Given the description of an element on the screen output the (x, y) to click on. 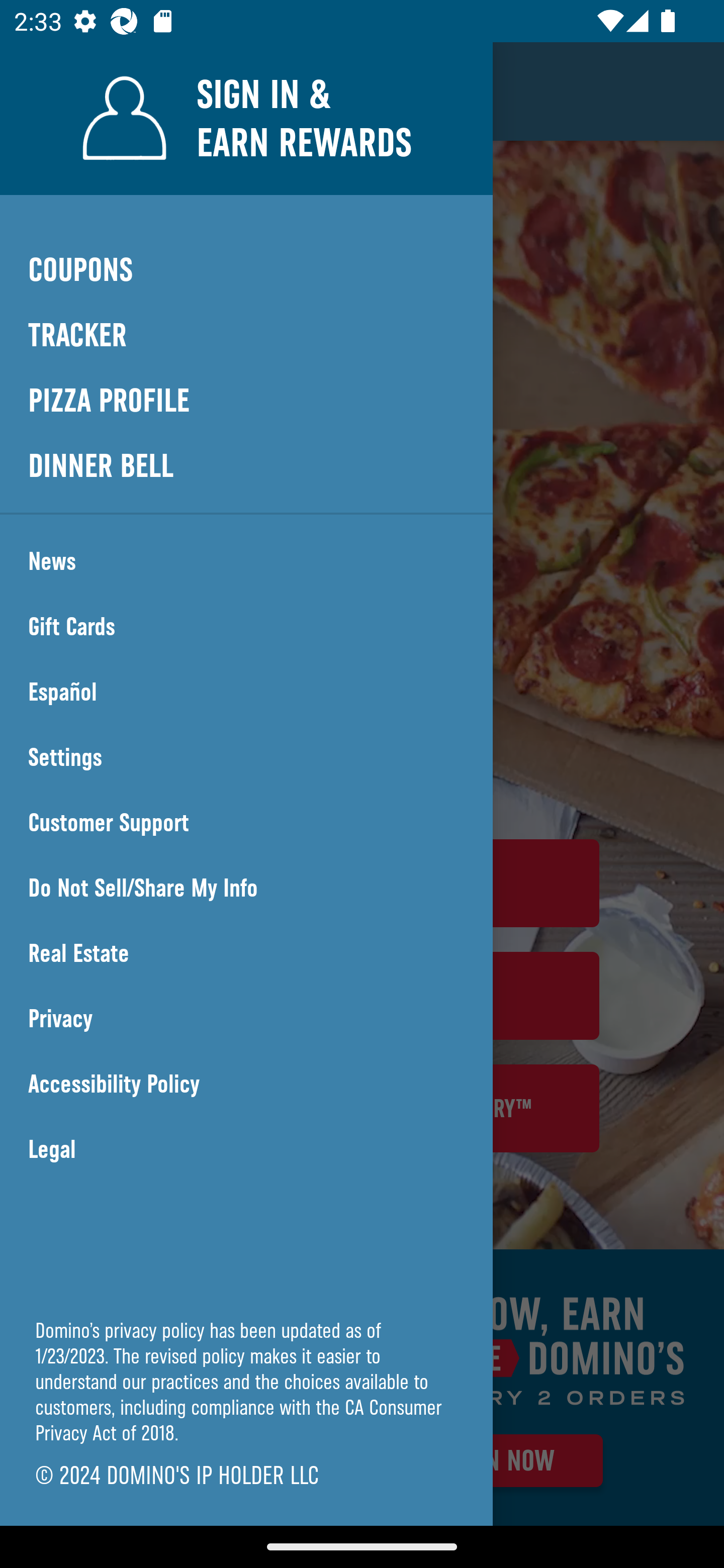
SIGN IN & EARN REWARDS (246, 118)
COUPONS (246, 269)
TRACKER (246, 335)
PIZZA PROFILE (246, 400)
DINNER BELL (246, 465)
News (246, 561)
Gift Cards (246, 627)
Español (246, 692)
Settings (246, 757)
Customer Support (246, 823)
Do Not Sell/Share My Info (246, 888)
Real Estate (246, 953)
Privacy (246, 1019)
Accessibility Policy (246, 1084)
Legal (246, 1149)
